Given the description of an element on the screen output the (x, y) to click on. 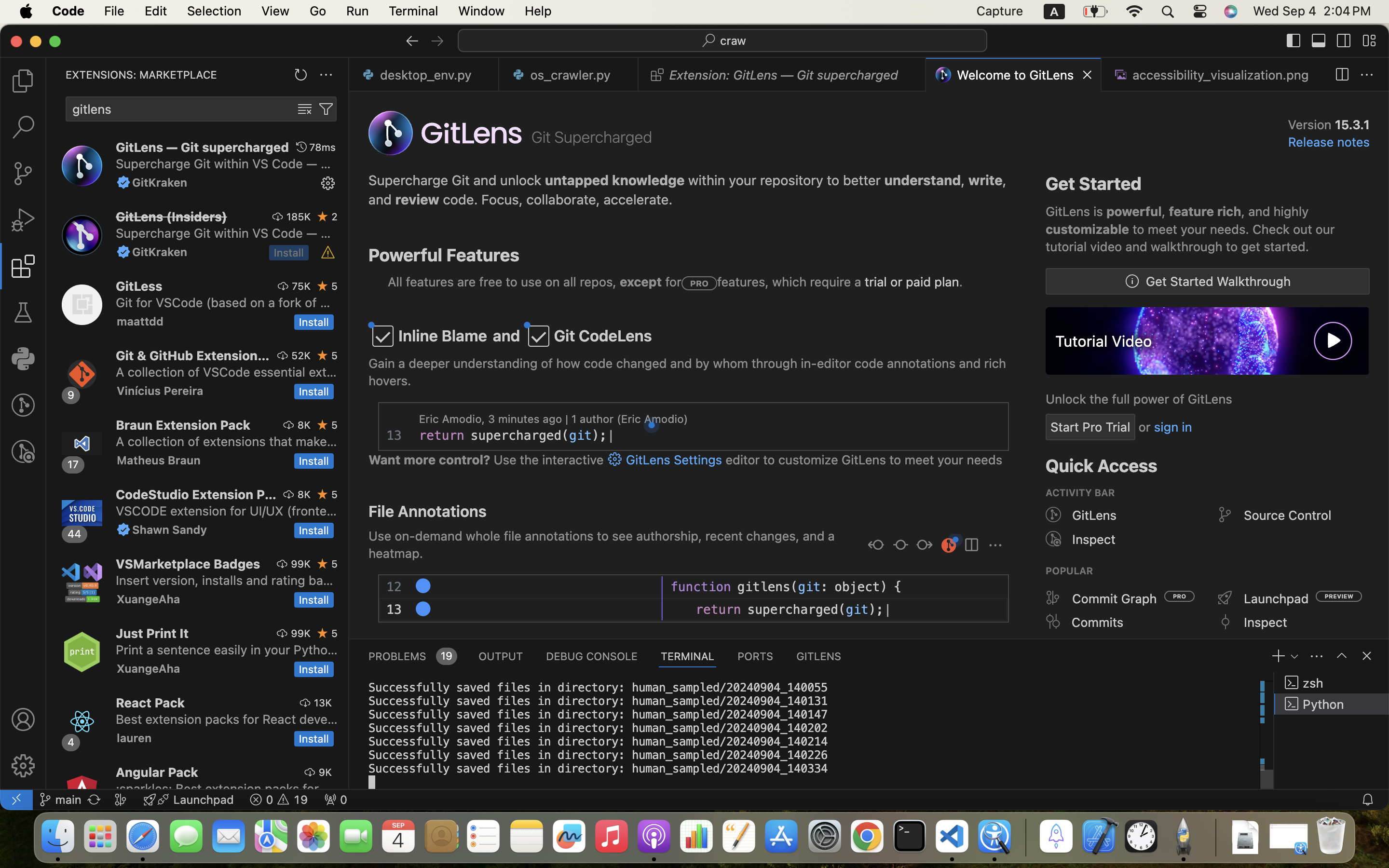
write Element type: AXStaticText (985, 180)
 Element type: AXCheckBox (1293, 40)
 Element type: AXStaticText (657, 74)
function Element type: AXStaticText (700, 586)
44 Element type: AXStaticText (74, 533)
